Given the description of an element on the screen output the (x, y) to click on. 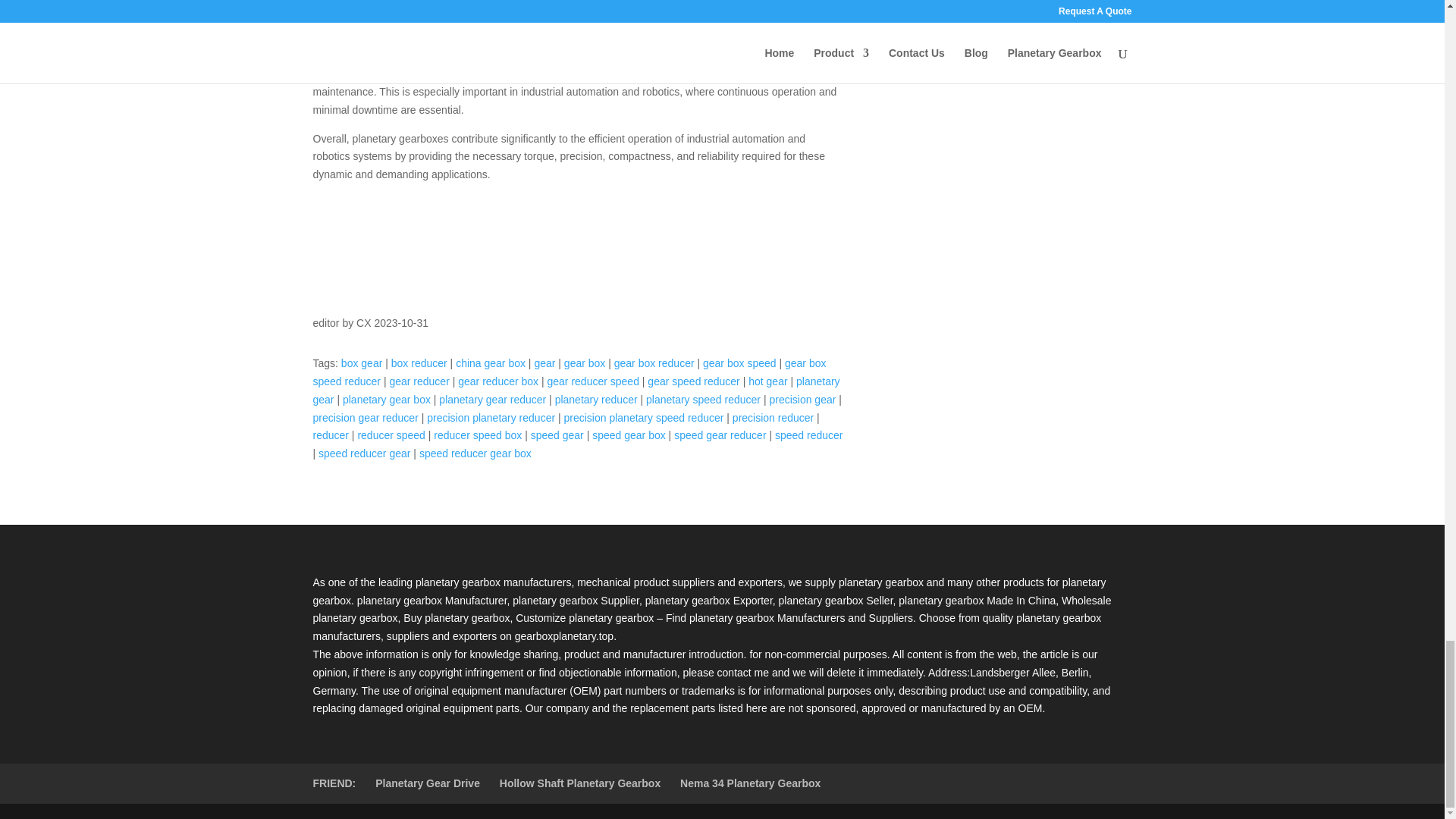
gear speed reducer (693, 381)
box reducer (418, 363)
gear reducer box (498, 381)
gear box speed reducer (569, 372)
reducer speed box (477, 435)
gear reducer speed (593, 381)
gear box reducer (654, 363)
planetary gear reducer (492, 399)
china gear box (490, 363)
precision gear (801, 399)
